Given the description of an element on the screen output the (x, y) to click on. 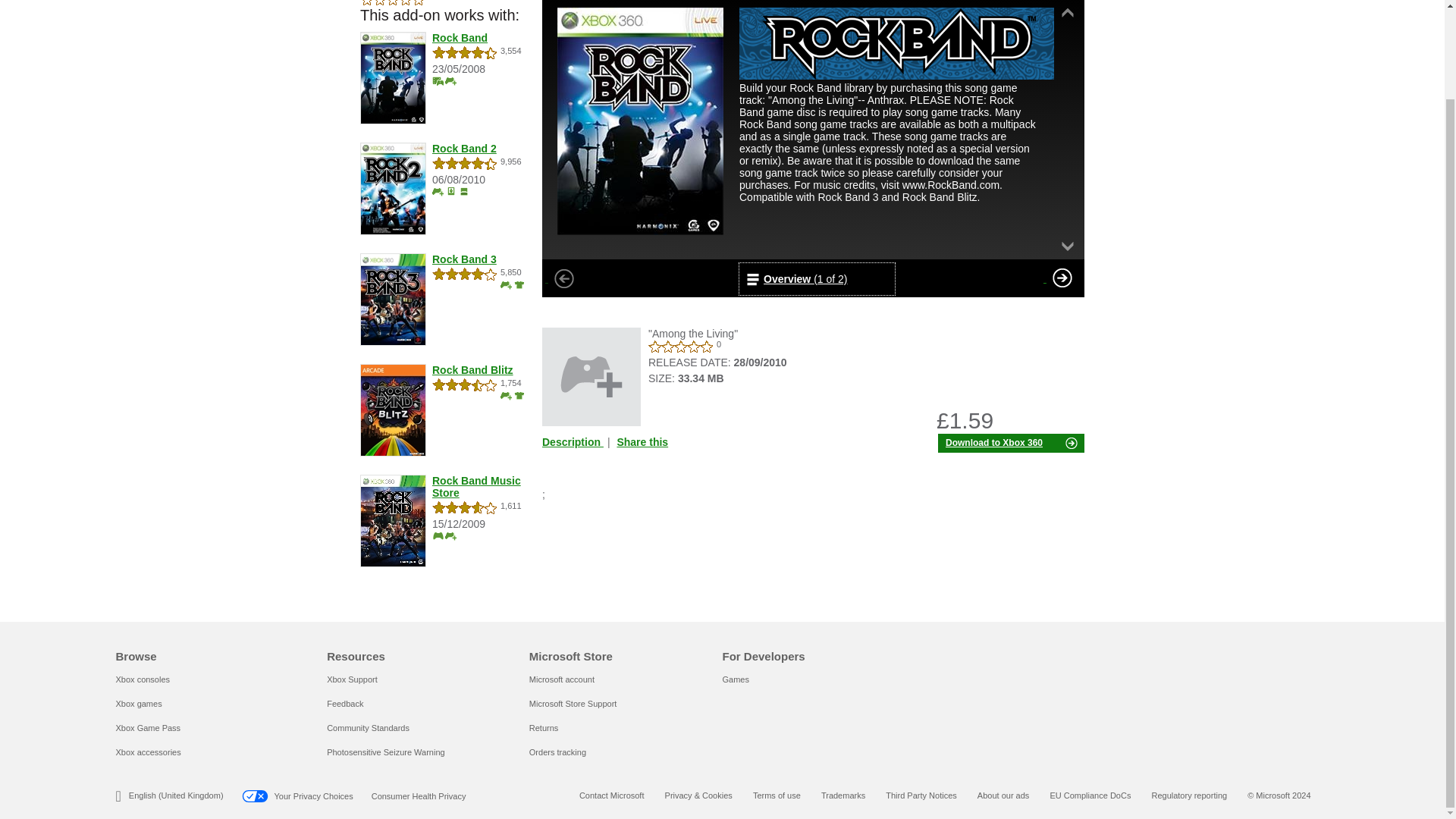
Next (1062, 278)
Previous (563, 278)
Game Add-ons (438, 191)
Avatar Items (518, 284)
Share this - "Among the Living" (641, 441)
Themes (463, 191)
Gamer Pictures (451, 191)
Game Add-ons (506, 395)
Game Add-ons (451, 535)
Description - "Among the Living" (574, 441)
Avatar Items (518, 395)
Game Videos (438, 80)
Game Add-ons (506, 284)
Game Add-on (590, 376)
Games (438, 535)
